Given the description of an element on the screen output the (x, y) to click on. 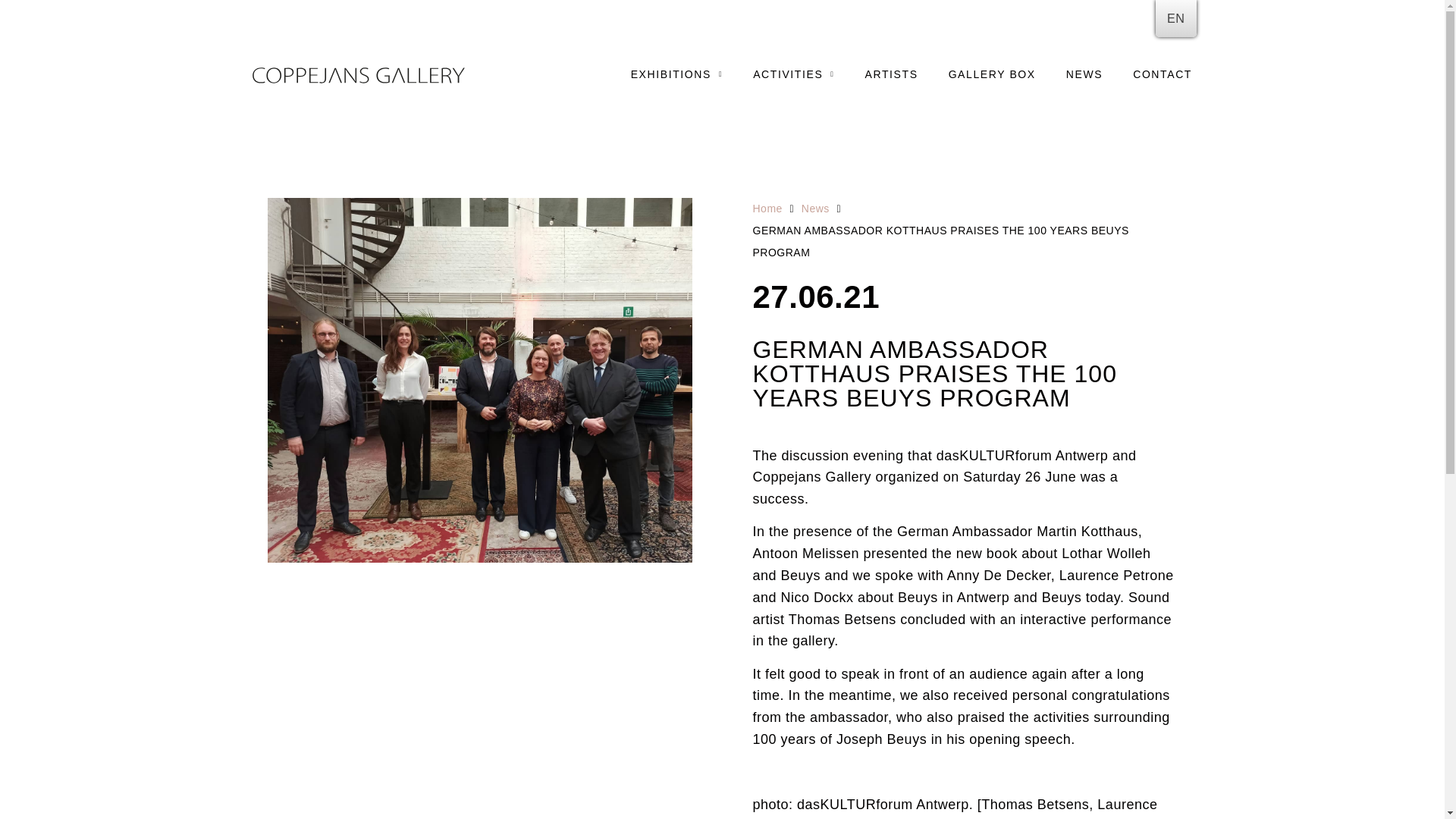
ACTIVITIES (793, 74)
Home (766, 209)
EN (1176, 18)
News (815, 209)
NEWS (1083, 74)
News (815, 209)
EXHIBITIONS (676, 74)
GALLERY BOX (992, 74)
ARTISTS (891, 74)
CONTACT (1162, 74)
Home (766, 209)
